Given the description of an element on the screen output the (x, y) to click on. 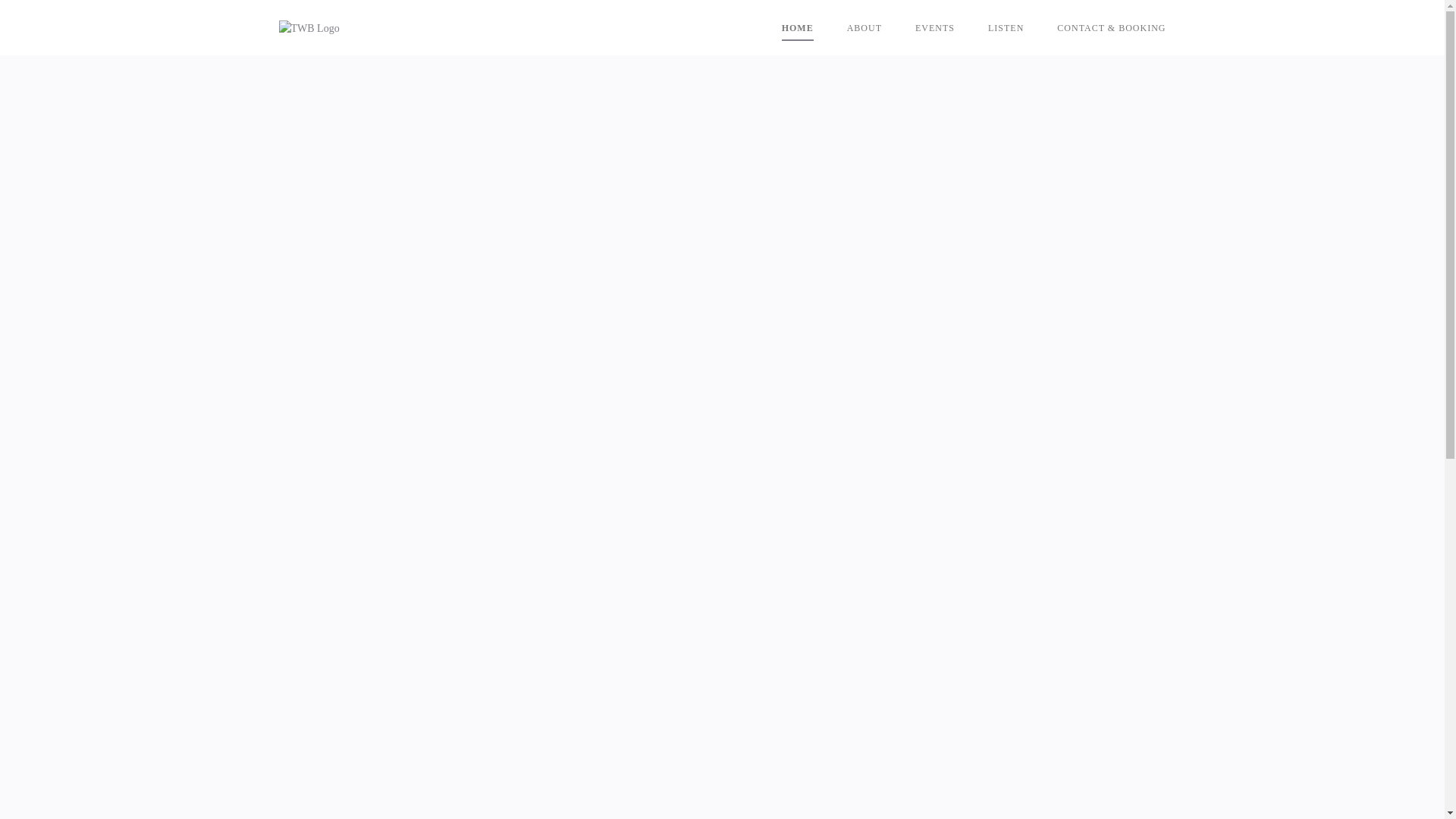
HOME (797, 27)
TWB Logo (309, 28)
LISTEN (1005, 27)
ABOUT (864, 27)
EVENTS (935, 27)
